Given the description of an element on the screen output the (x, y) to click on. 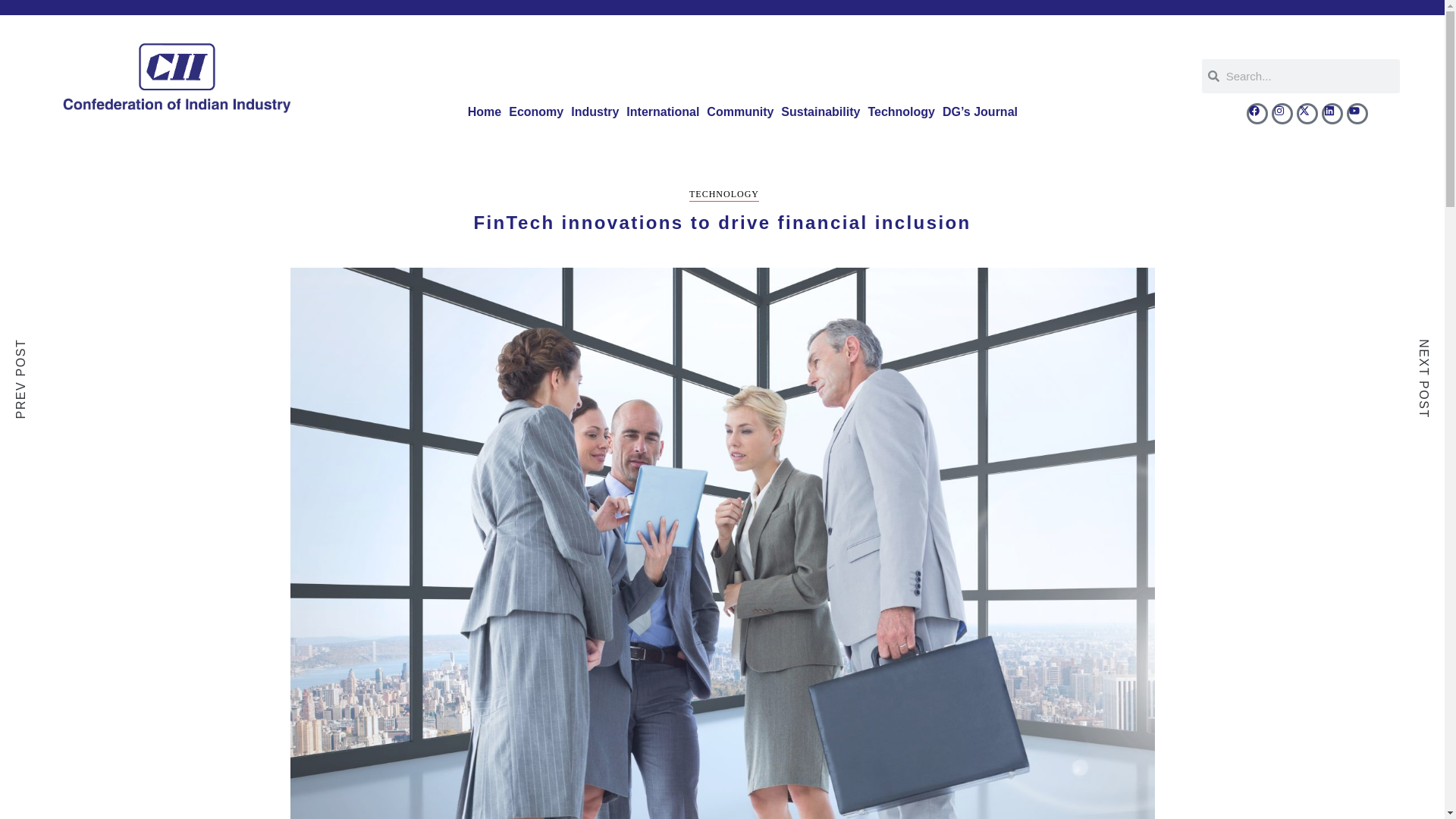
Technology (901, 112)
Industry (595, 112)
Home (484, 112)
Community (740, 112)
Economy (536, 112)
International (663, 112)
Sustainability (820, 112)
TECHNOLOGY (723, 195)
